Given the description of an element on the screen output the (x, y) to click on. 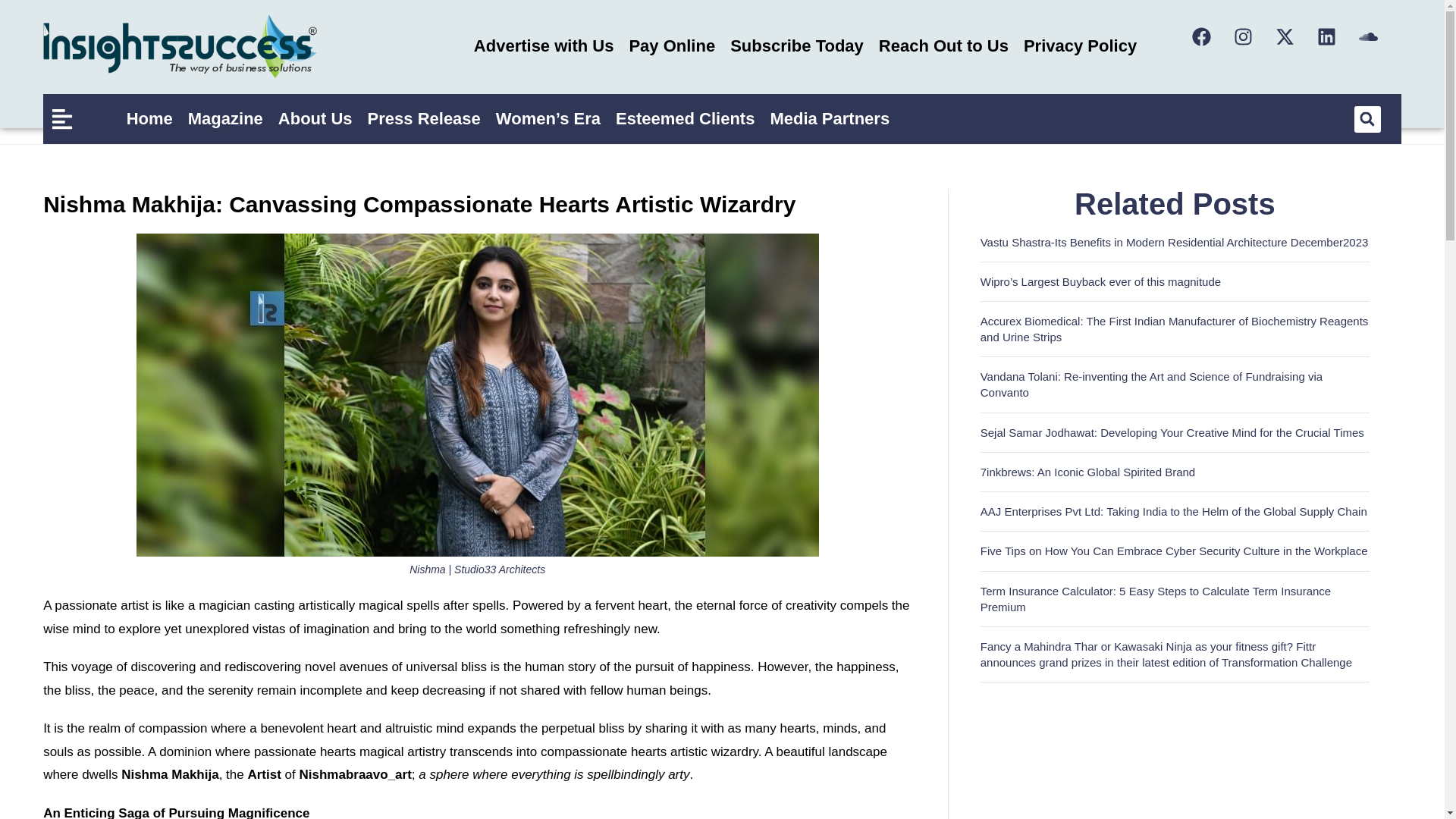
Esteemed Clients (684, 118)
Pay Online (671, 45)
Advertise with Us (543, 45)
Media Partners (828, 118)
Reach Out to Us (943, 45)
Press Release (423, 118)
About Us (314, 118)
Magazine (225, 118)
Home (149, 118)
Privacy Policy (1080, 45)
